Given the description of an element on the screen output the (x, y) to click on. 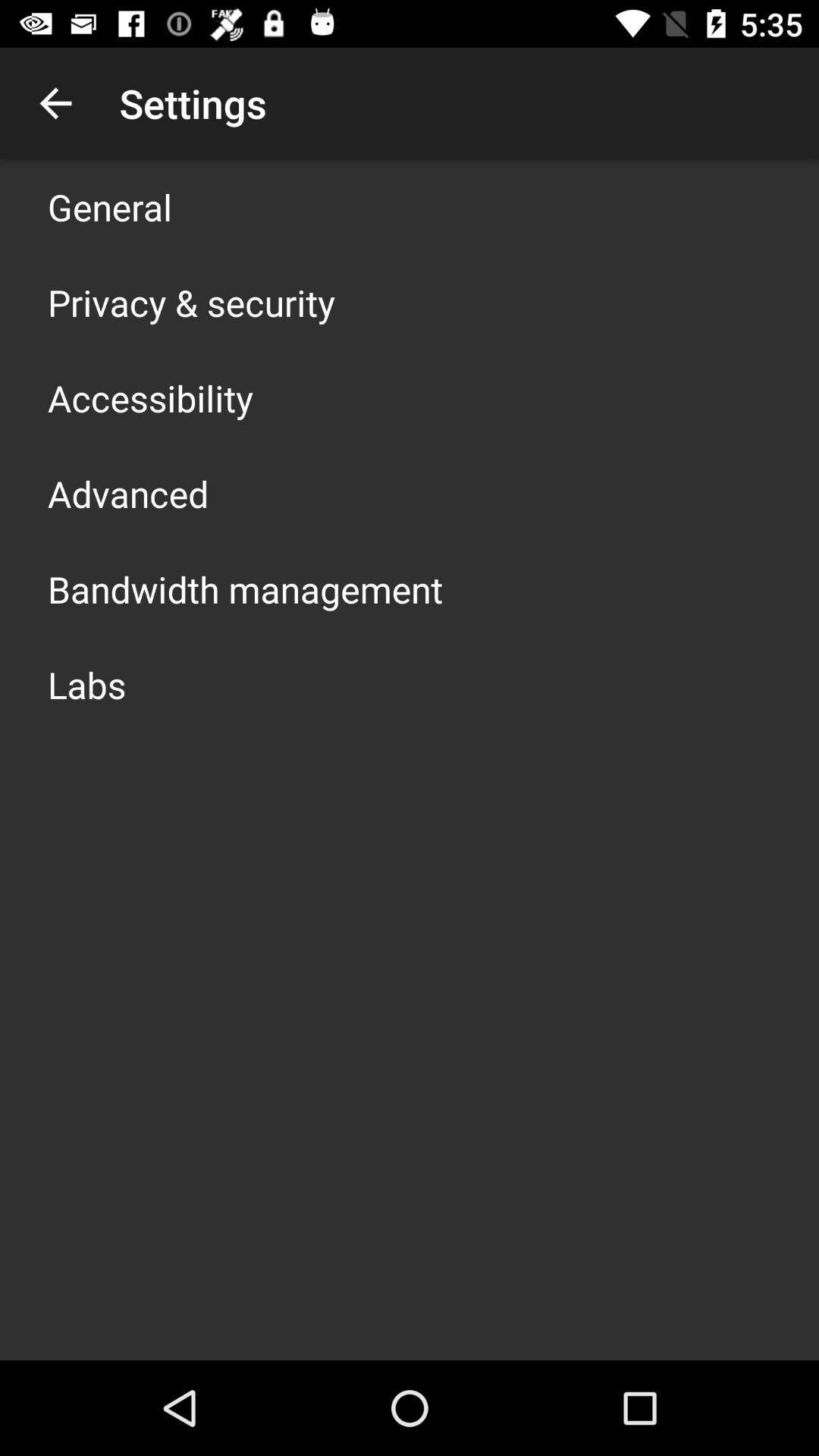
swipe until general app (109, 206)
